Given the description of an element on the screen output the (x, y) to click on. 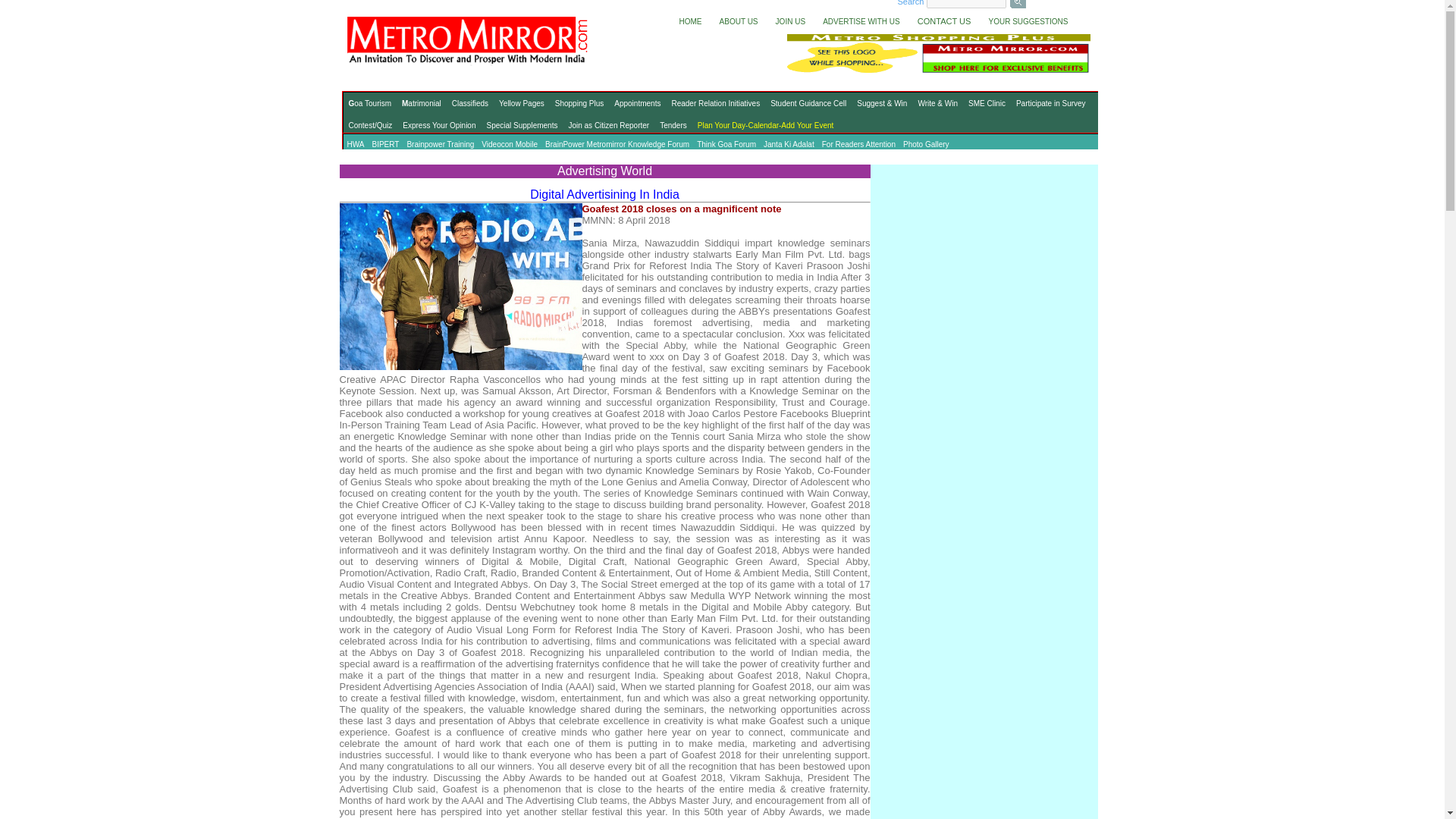
Join as Citizen Reporter (607, 125)
Photo Gallery (926, 144)
Participate in Survey (1050, 103)
BIPERT (385, 144)
Janta Ki Adalat (789, 144)
JOIN US (786, 20)
ADVERTISE WITH US (857, 20)
Digital Advertisining In India (604, 194)
Plan Your Day-Calendar-Add Your Event (766, 125)
Express Your Opinion (438, 125)
HWA (355, 144)
Think Goa Forum (726, 144)
For Readers Attention (858, 144)
twitter (1048, 2)
BrainPower Metromirror Knowledge Forum (617, 144)
